Given the description of an element on the screen output the (x, y) to click on. 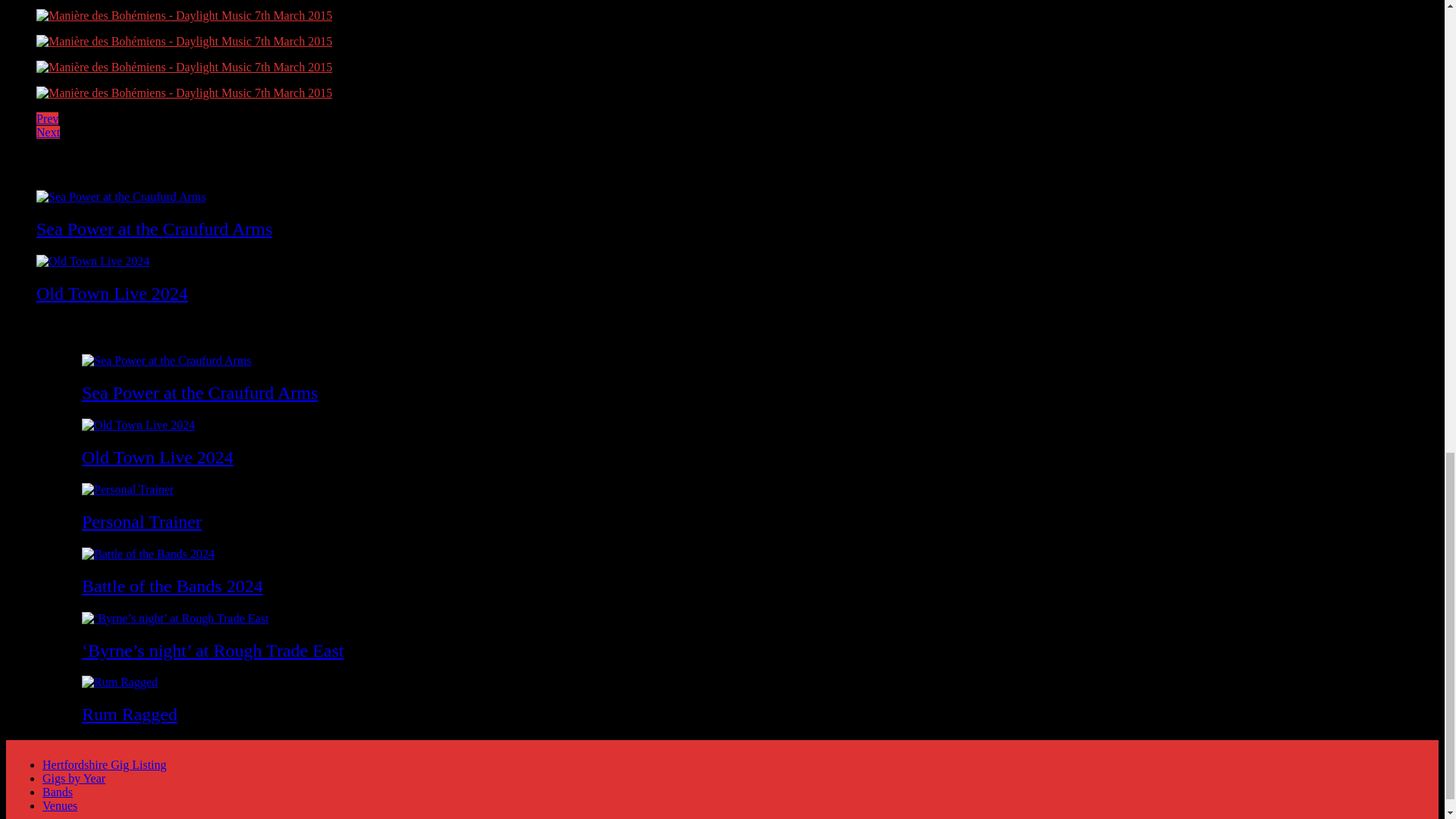
Sea Power at the Craufurd Arms (154, 229)
Prev (47, 118)
Sea Power at the Craufurd Arms (199, 392)
Next (47, 132)
Old Town Live 2024 (111, 293)
